Given the description of an element on the screen output the (x, y) to click on. 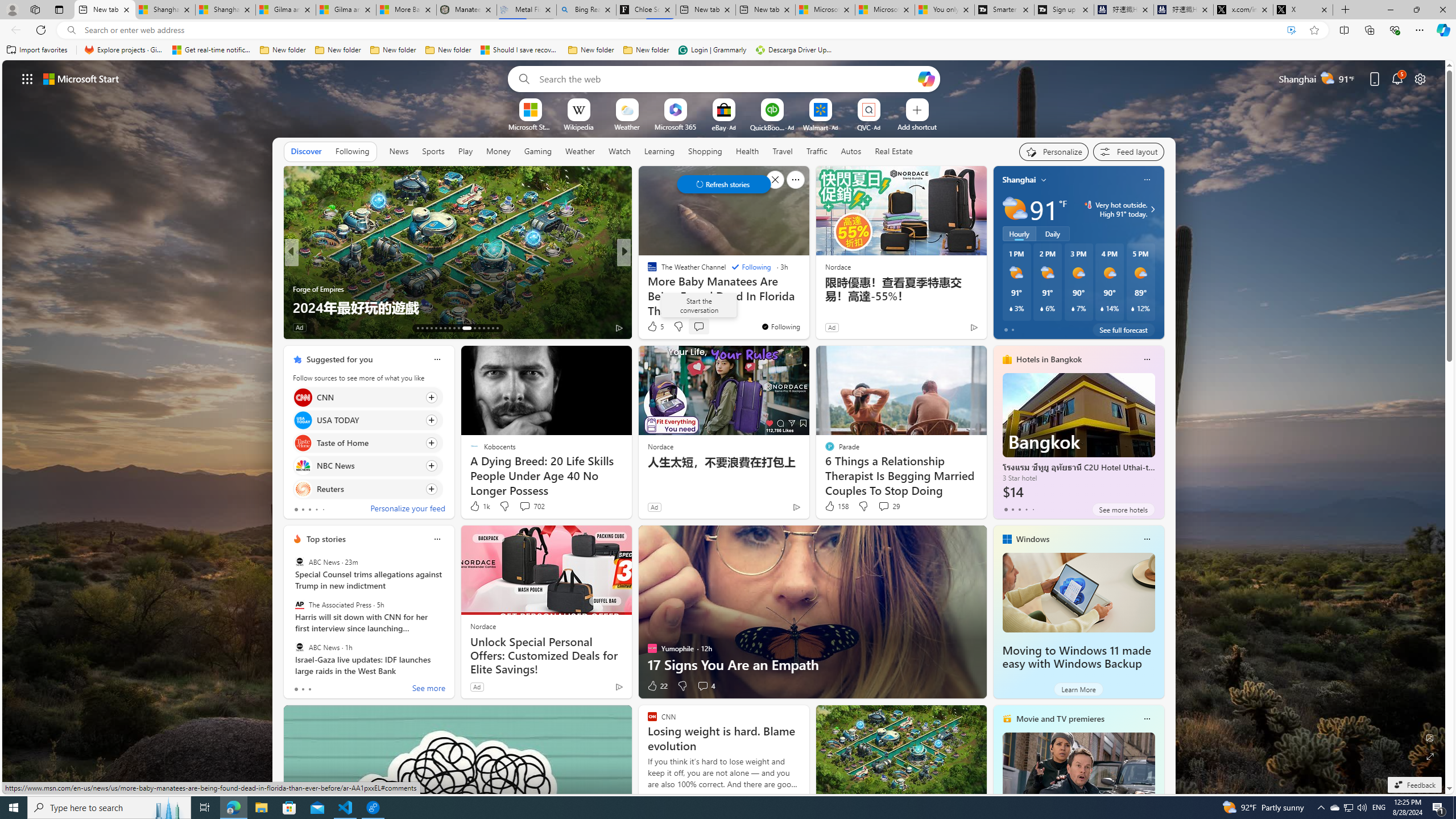
Partly sunny (1014, 208)
Search icon (70, 29)
Learning (658, 151)
Hourly (1018, 233)
View comments 2 Comment (702, 327)
Weather (579, 151)
